Given the description of an element on the screen output the (x, y) to click on. 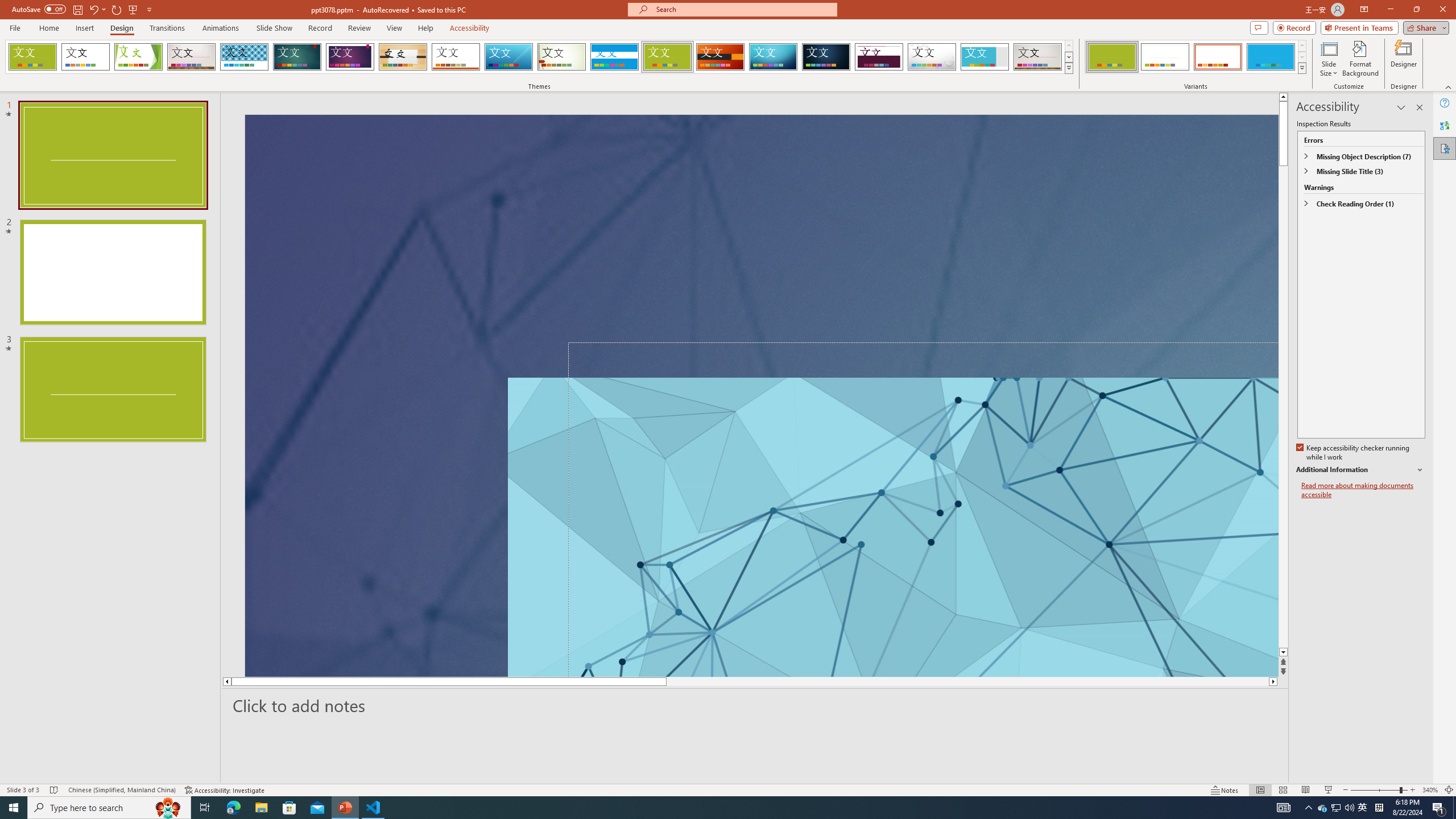
Basis Variant 2 (1164, 56)
Droplet (931, 56)
Themes (1068, 67)
Keep accessibility checker running while I work (1353, 452)
Zoom 340% (1430, 790)
Variants (1301, 67)
Ion Boardroom (350, 56)
Read more about making documents accessible (1363, 489)
